Given the description of an element on the screen output the (x, y) to click on. 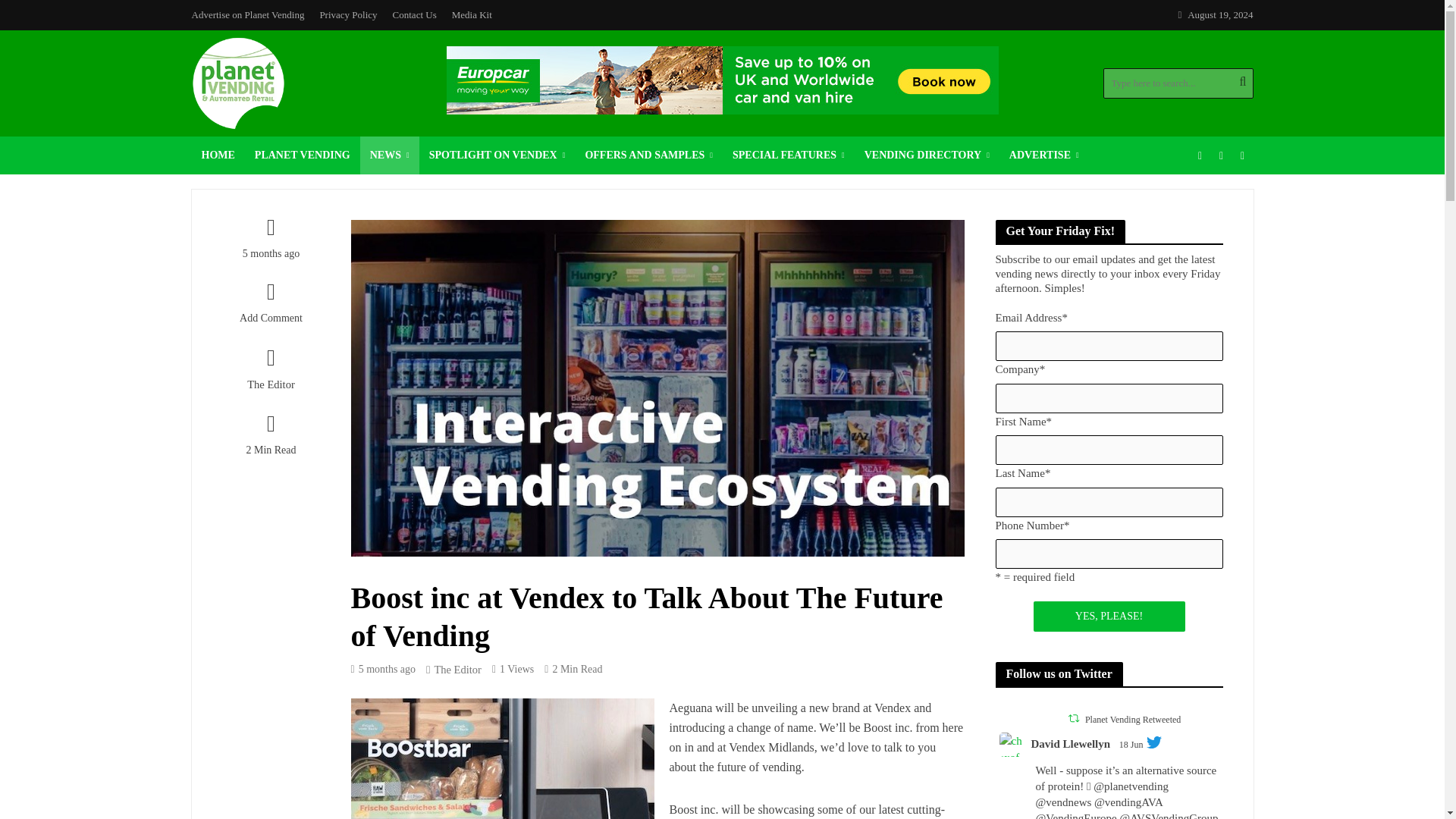
PLANET VENDING (301, 155)
SPECIAL FEATURES (788, 155)
Media Kit (471, 15)
Yes, Please! (1108, 616)
OFFERS AND SAMPLES (648, 155)
Advertise On Planet Vending (1043, 155)
Advertise on Planet Vending (250, 15)
HOME (217, 155)
Follow us on Twitter (1220, 155)
SPOTLIGHT ON VENDEX (497, 155)
